Given the description of an element on the screen output the (x, y) to click on. 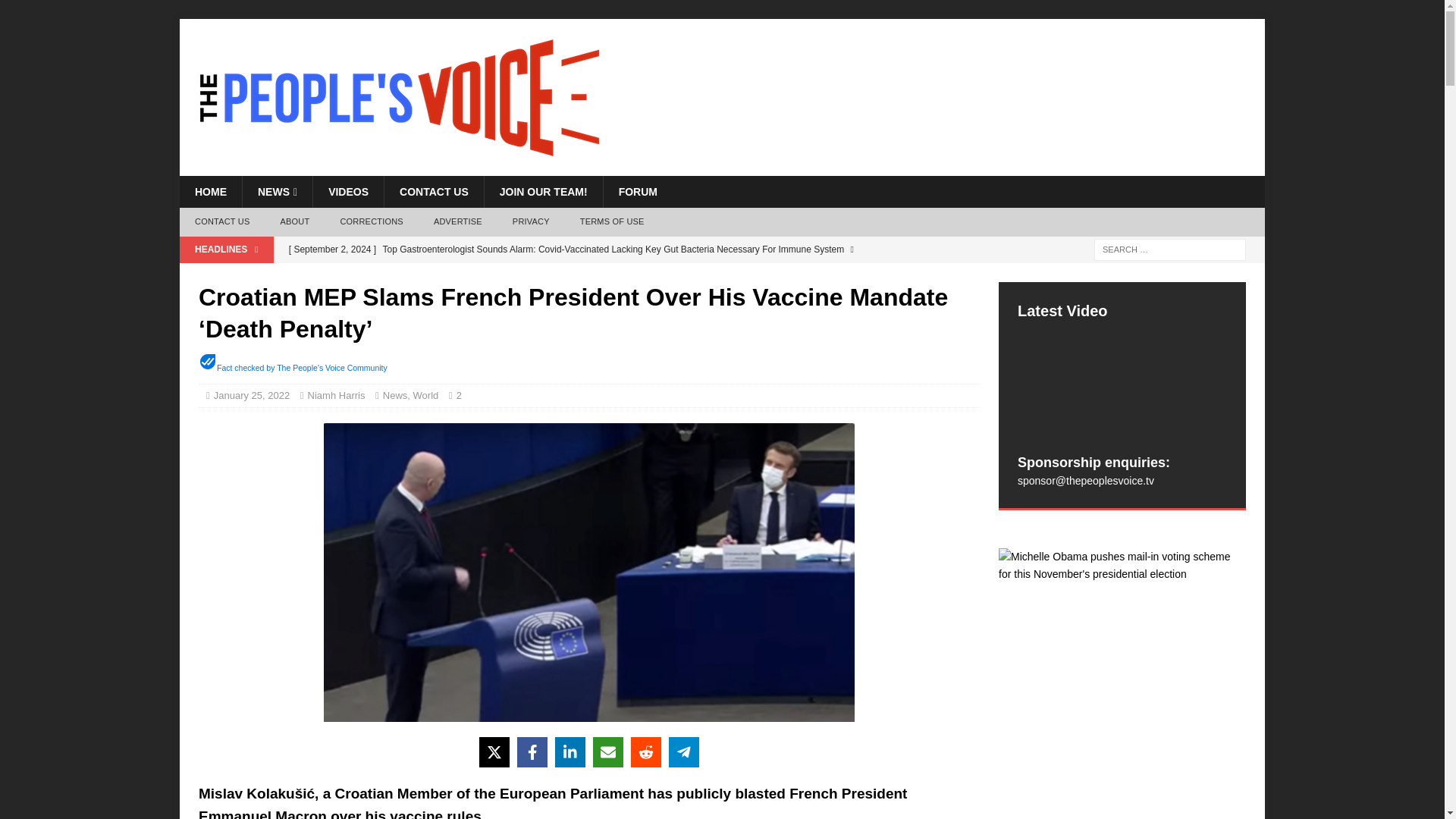
World (426, 395)
TERMS OF USE (611, 222)
ADVERTISE (458, 222)
CONTACT US (221, 222)
January 25, 2022 (251, 395)
JOIN OUR TEAM! (542, 192)
Fact checked by The People's Voice Community (301, 367)
FORUM (637, 192)
NEWS (277, 192)
2 (462, 395)
